Given the description of an element on the screen output the (x, y) to click on. 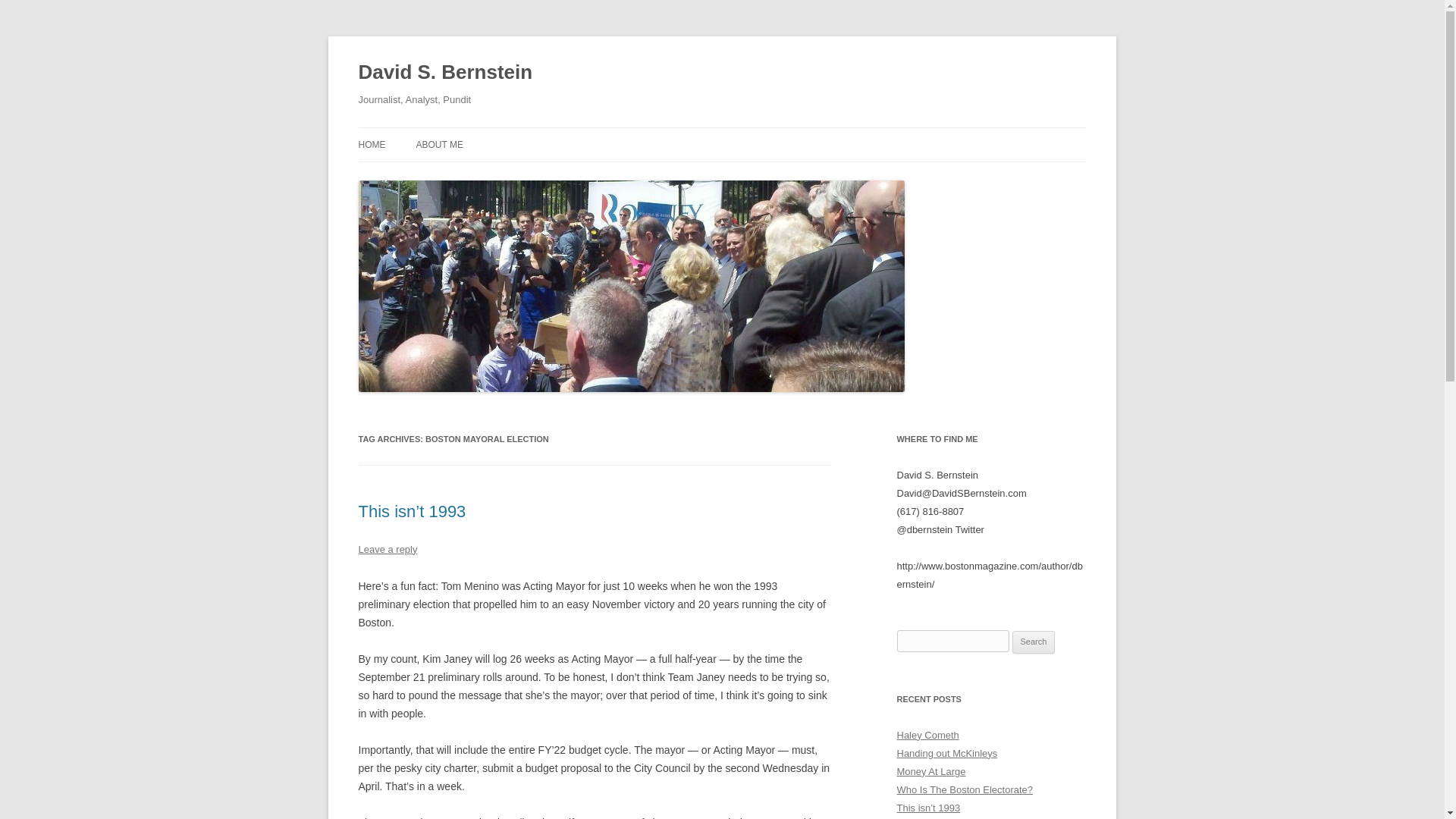
Money At Large (930, 771)
Haley Cometh (927, 735)
David S. Bernstein (445, 72)
ABOUT ME (438, 144)
Who Is The Boston Electorate? (964, 789)
Search (1033, 641)
Handing out McKinleys (946, 753)
Search (1033, 641)
Leave a reply (387, 549)
